Given the description of an element on the screen output the (x, y) to click on. 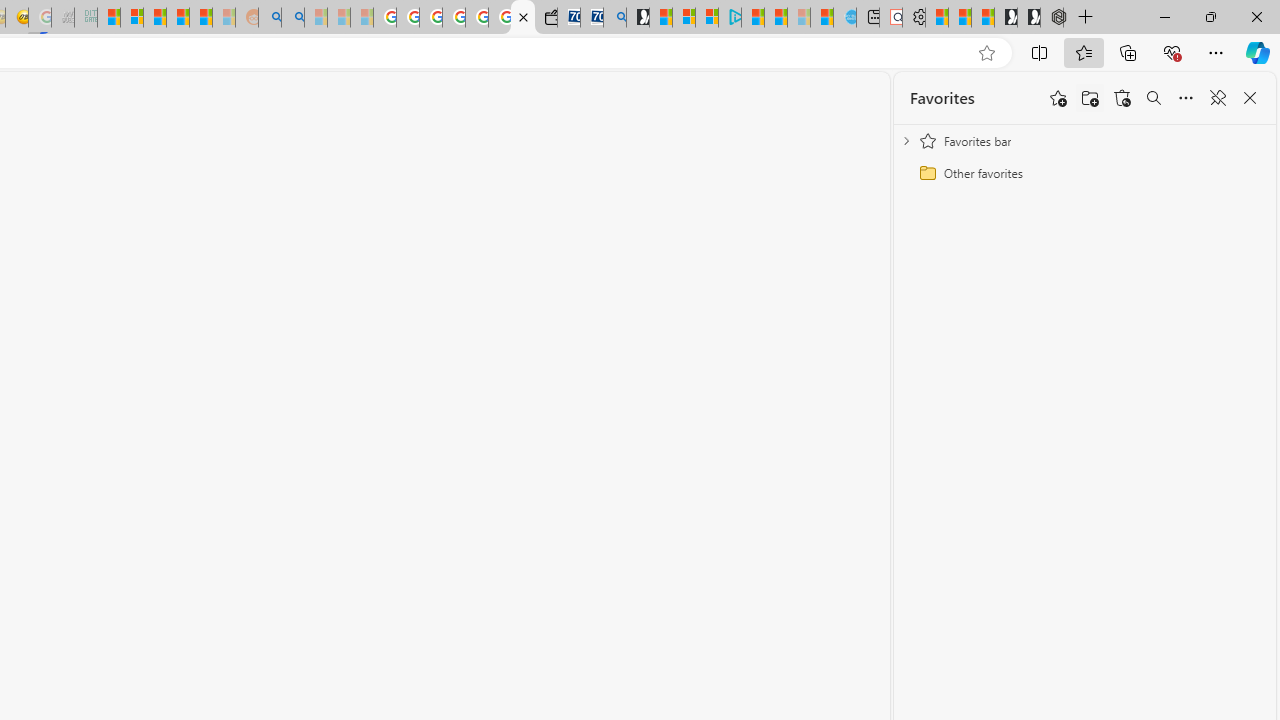
Restore deleted favorites (1122, 98)
Cheap Car Rentals - Save70.com (591, 17)
Add folder (1089, 98)
